Given the description of an element on the screen output the (x, y) to click on. 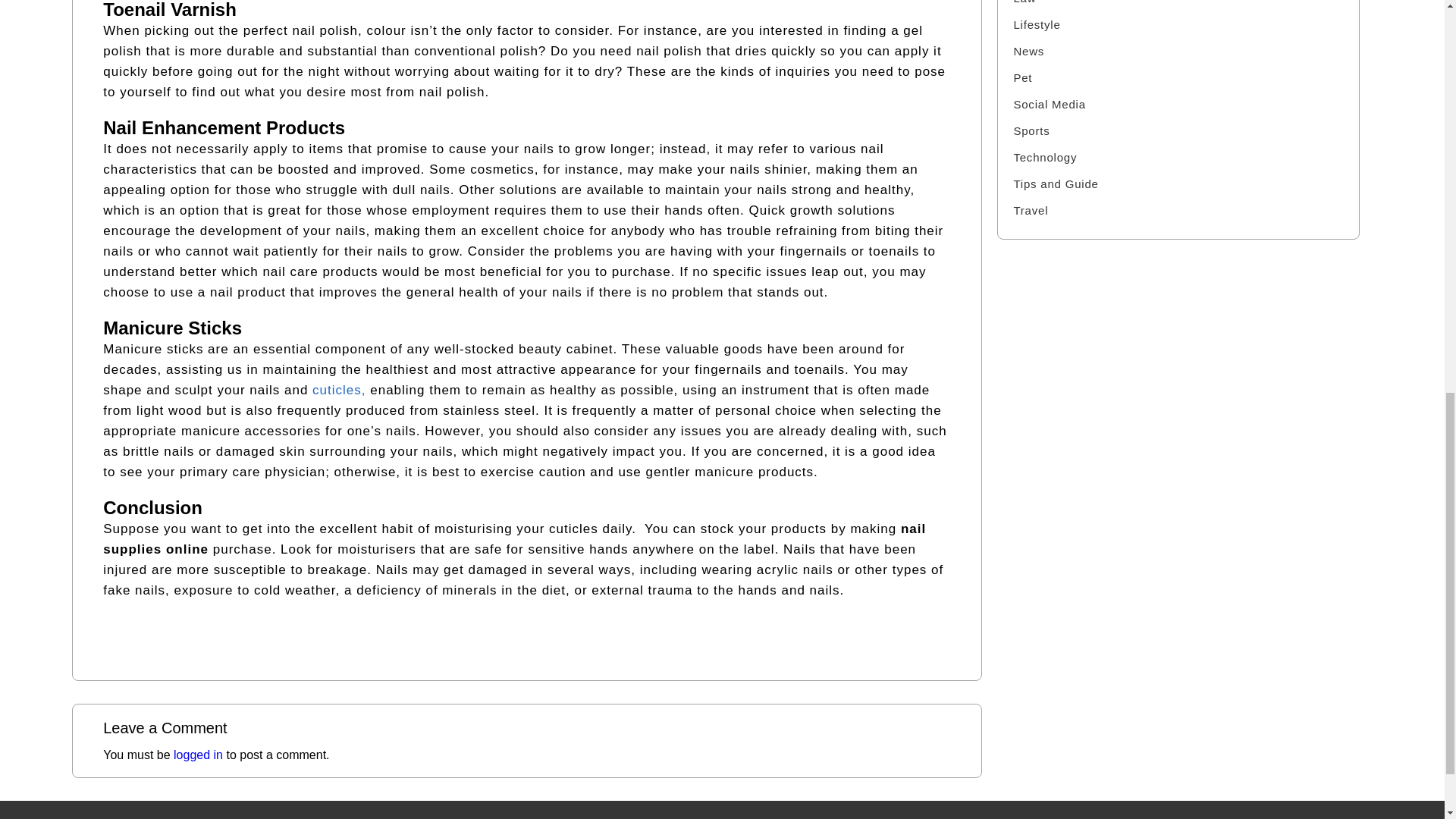
cuticles, (339, 390)
logged in (197, 754)
